Given the description of an element on the screen output the (x, y) to click on. 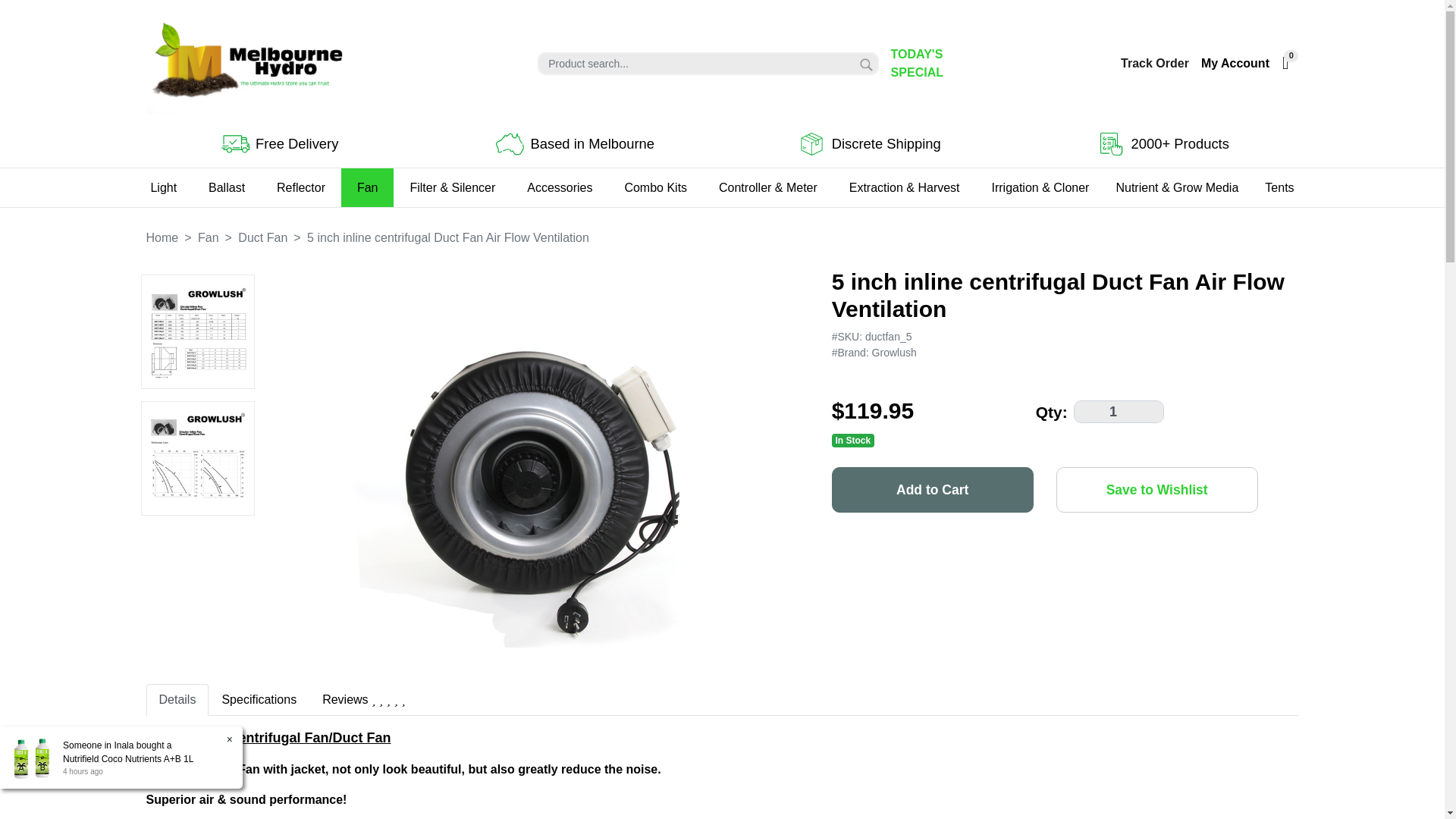
Light (162, 187)
Fan (366, 187)
Ballast (226, 187)
Reflector (300, 187)
Add To Wishlist (1157, 489)
My Account (1235, 63)
TODAY'S SPECIAL (947, 63)
1 (1119, 411)
0 (1283, 63)
Track Order (1148, 63)
Melbourne Hydro (247, 62)
